Given the description of an element on the screen output the (x, y) to click on. 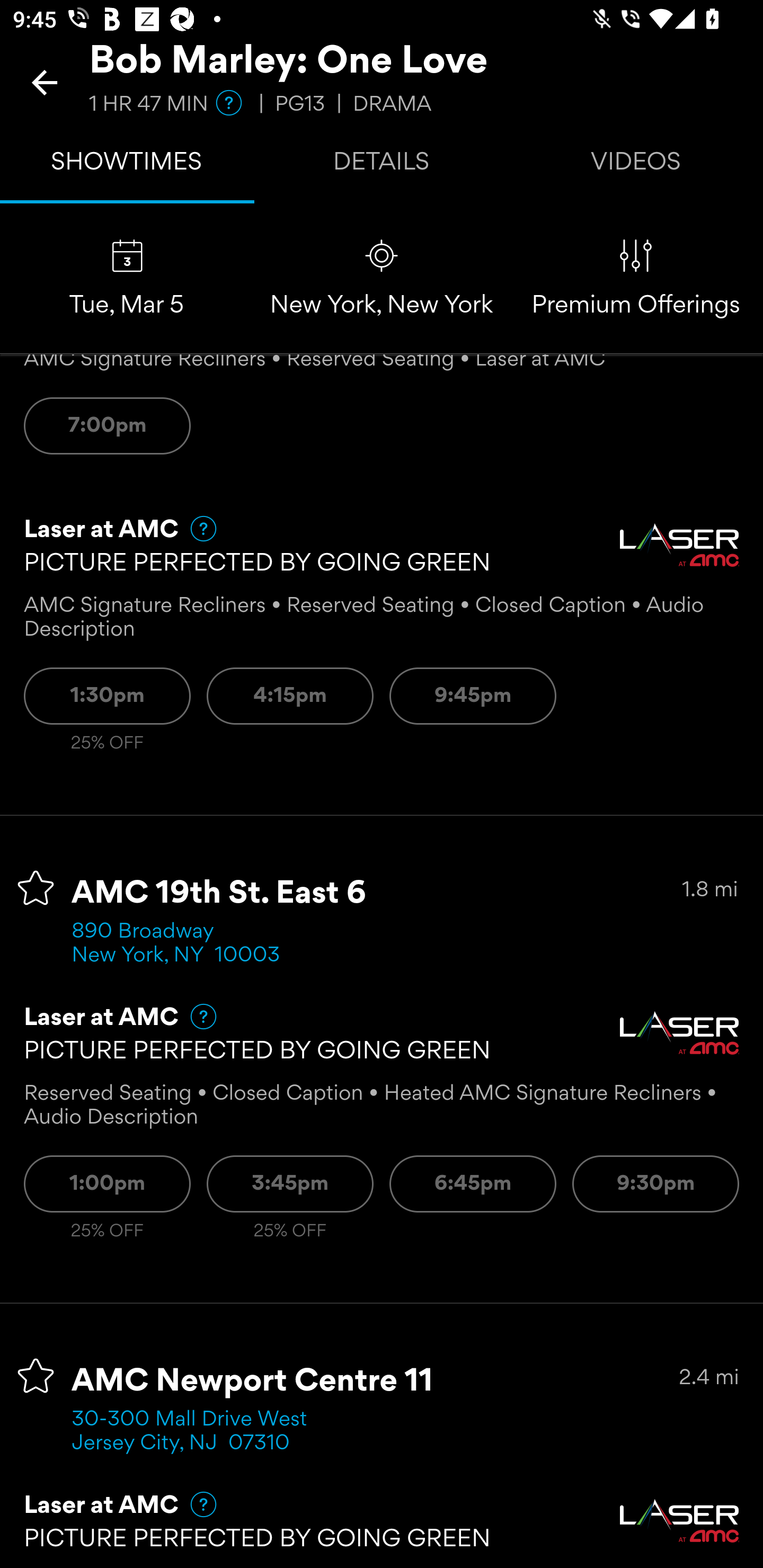
Back (44, 82)
SHOWTIMES
Tab 1 of 3 (127, 165)
DETAILS
Tab 2 of 3 (381, 165)
VIDEOS
Tab 3 of 3 (635, 165)
Change selected day
Tue, Mar 5 (127, 279)
Change location
New York, New York (381, 279)
Premium Offerings
Premium Offerings (635, 279)
Help (195, 528)
AMC 19th St. East 6 (219, 893)
890 Broadway  
New York, NY  10003 (176, 943)
Help (195, 1015)
AMC Newport Centre 11 (252, 1382)
30-300 Mall Drive West  
Jersey City, NJ  07310 (195, 1431)
Help (195, 1504)
